Given the description of an element on the screen output the (x, y) to click on. 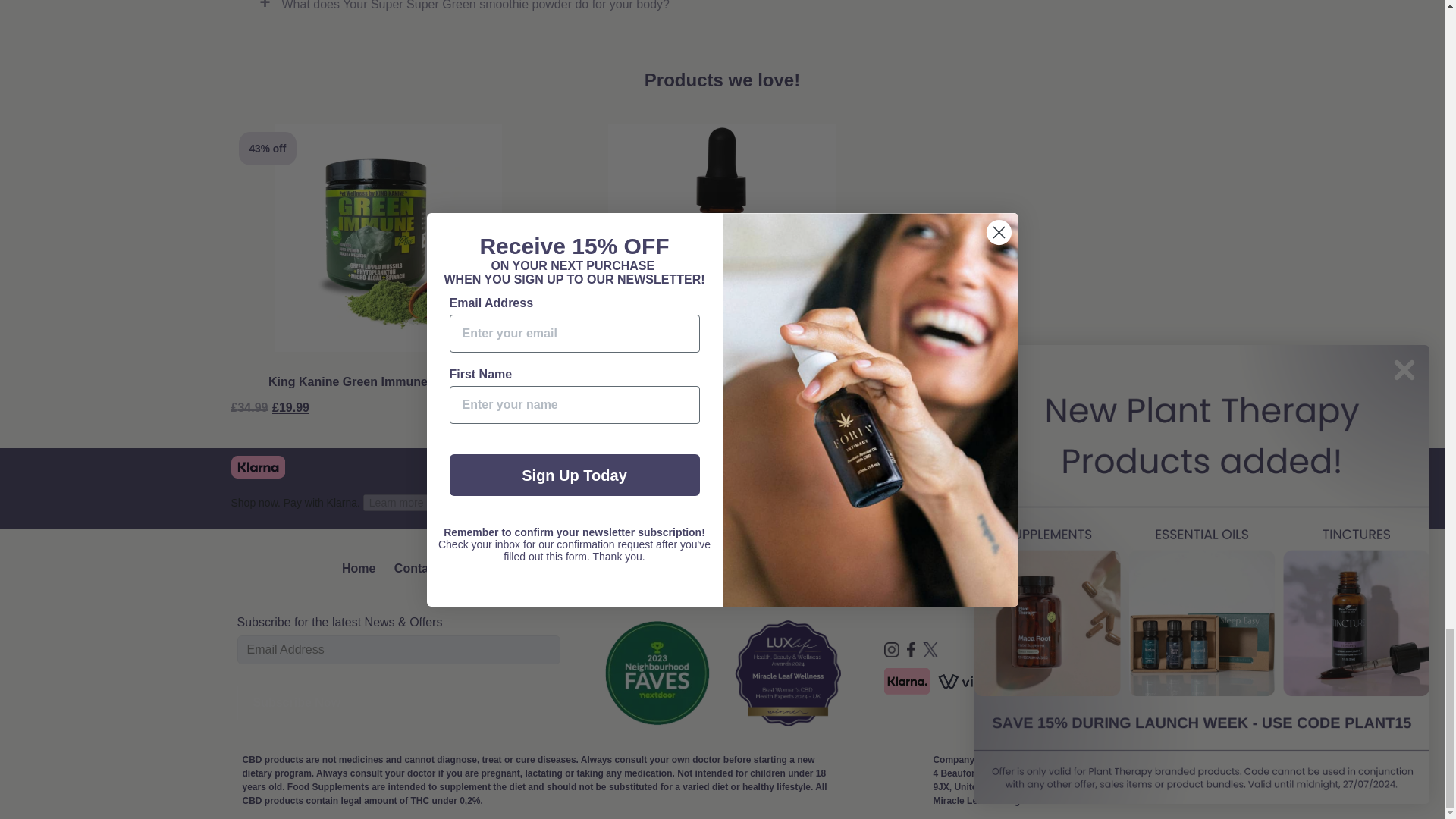
Customer reviews powered by Trustpilot (971, 470)
